Given the description of an element on the screen output the (x, y) to click on. 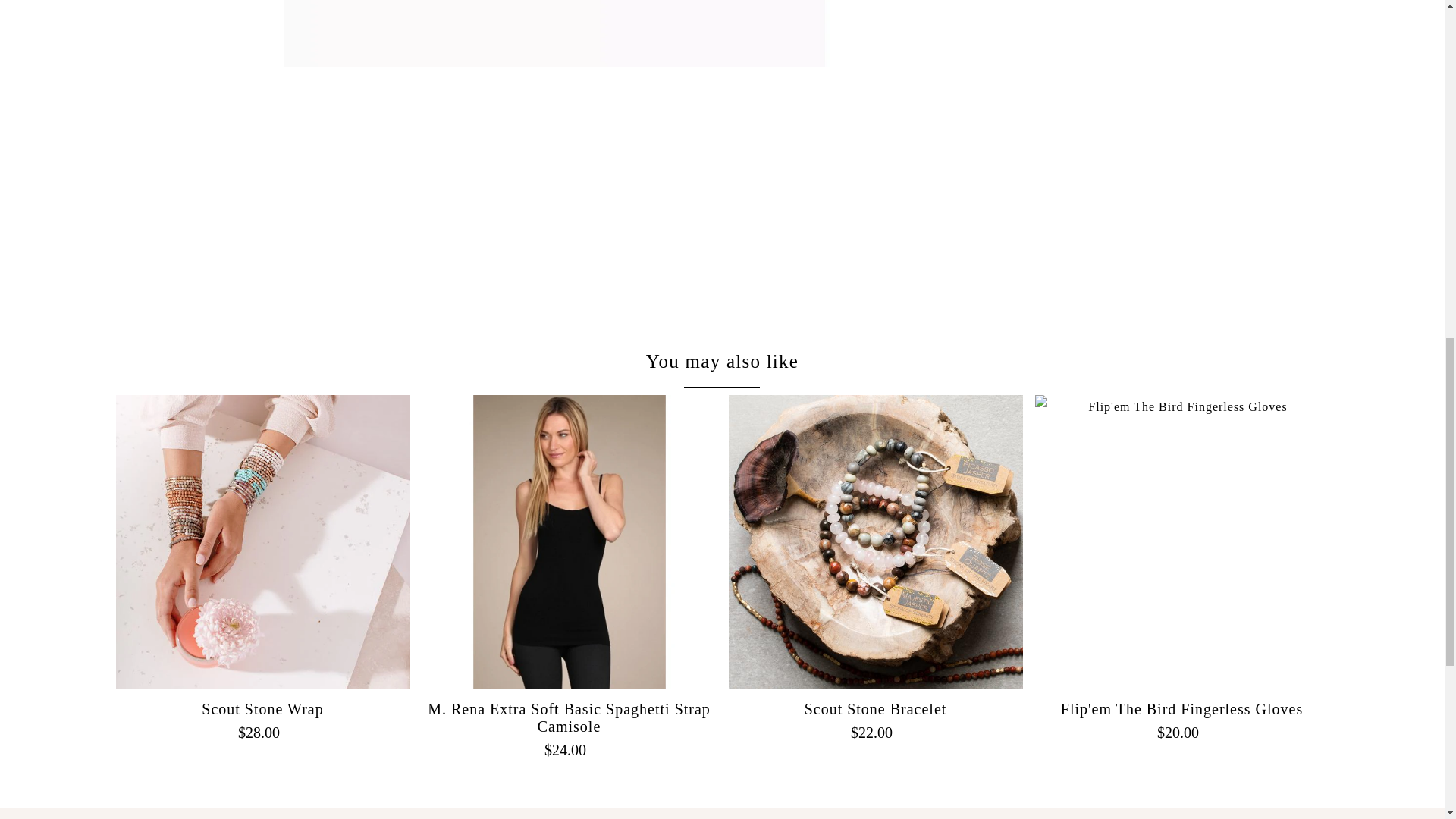
Scout Stone Bracelet (875, 541)
Scout Stone Wrap (262, 541)
Flip'em The Bird Fingerless Gloves (1180, 541)
M. Rena Extra Soft Basic Spaghetti Strap Camisole (569, 541)
